Given the description of an element on the screen output the (x, y) to click on. 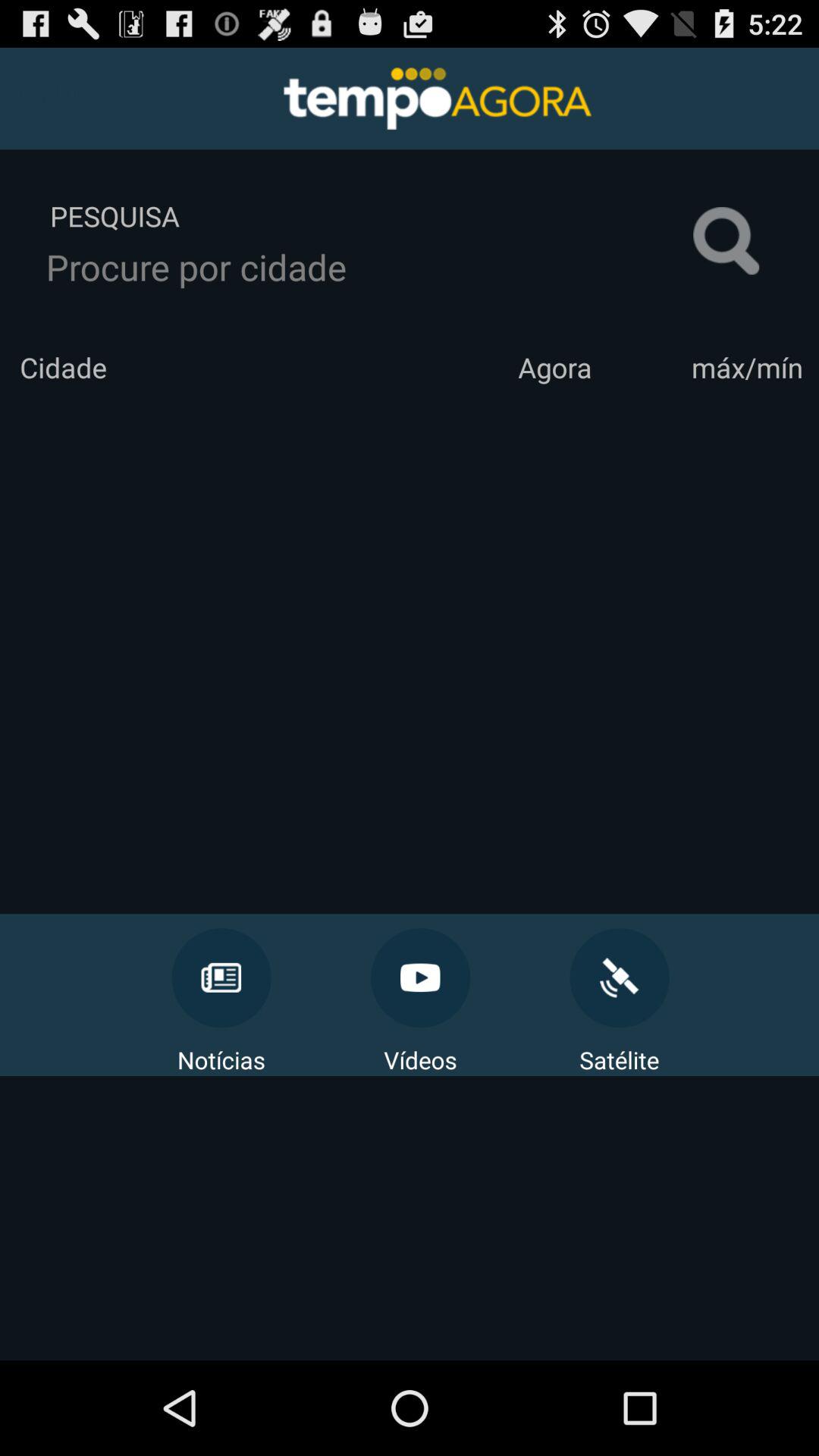
click the icon below cidade app (409, 649)
